Given the description of an element on the screen output the (x, y) to click on. 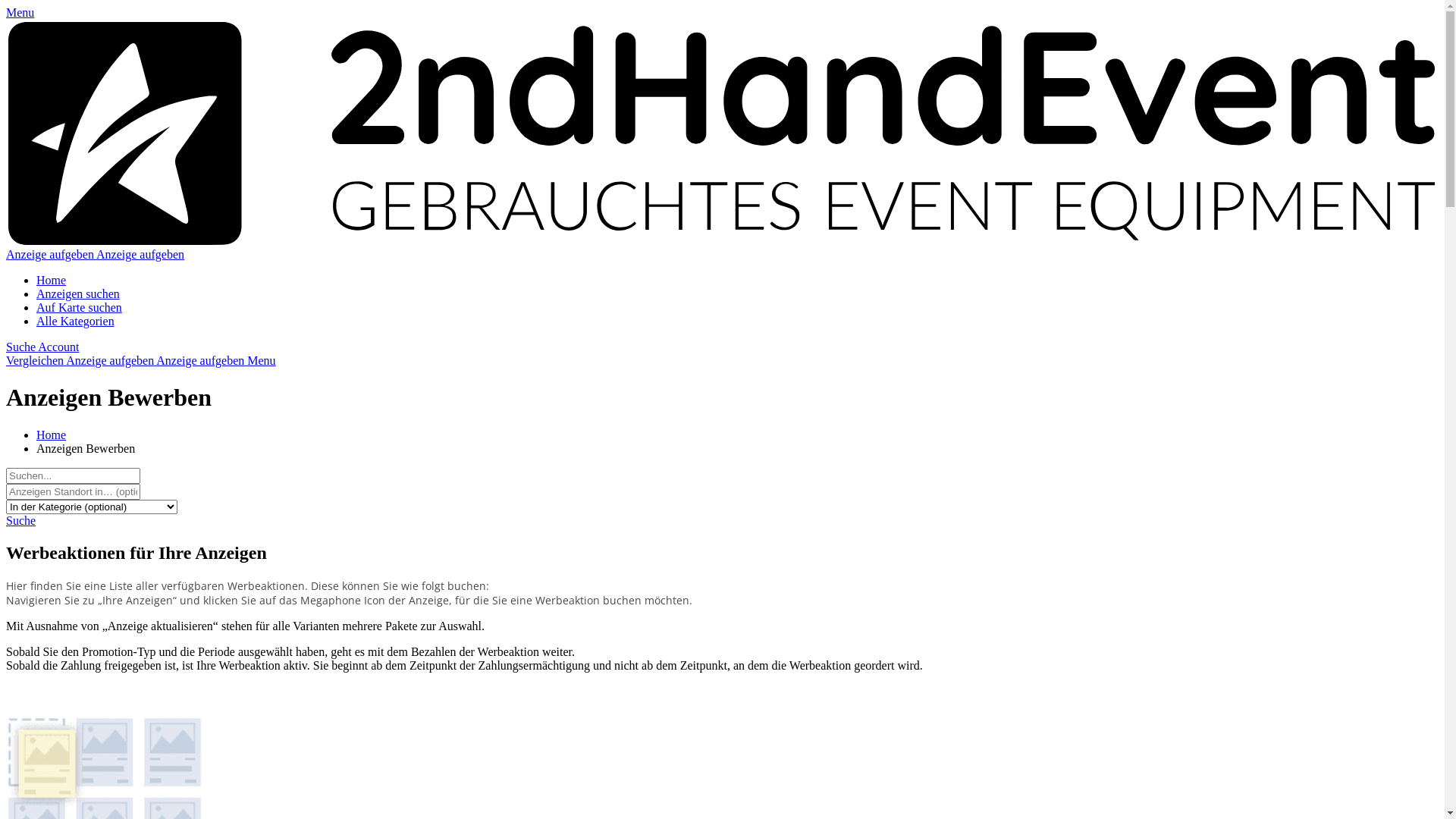
Menu Element type: text (261, 360)
Auf Karte suchen Element type: text (79, 307)
Anzeigen suchen Element type: text (77, 293)
Home Element type: text (50, 279)
Suche Element type: text (21, 346)
Account Element type: text (57, 346)
Anzeige aufgeben Anzeige aufgeben Element type: text (156, 360)
Menu Element type: text (20, 12)
Anzeige aufgeben Anzeige aufgeben Element type: text (95, 253)
Home Element type: text (50, 434)
Suche Element type: text (20, 520)
Alle Kategorien Element type: text (75, 320)
Vergleichen Element type: text (722, 367)
